Given the description of an element on the screen output the (x, y) to click on. 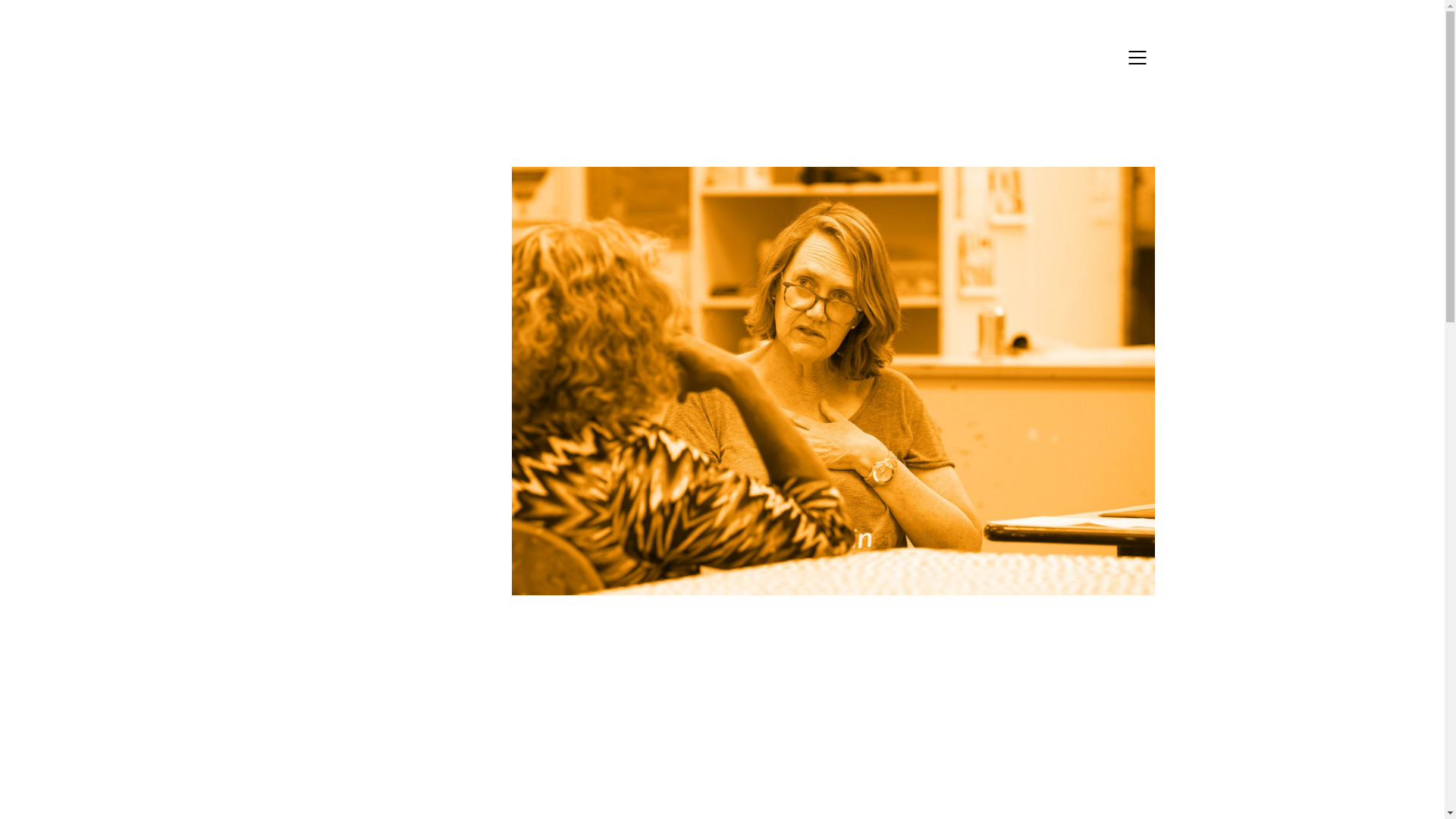
Privacy Policy (551, 780)
Copyright (475, 780)
Instagram (700, 716)
LinkedIn (738, 716)
